Given the description of an element on the screen output the (x, y) to click on. 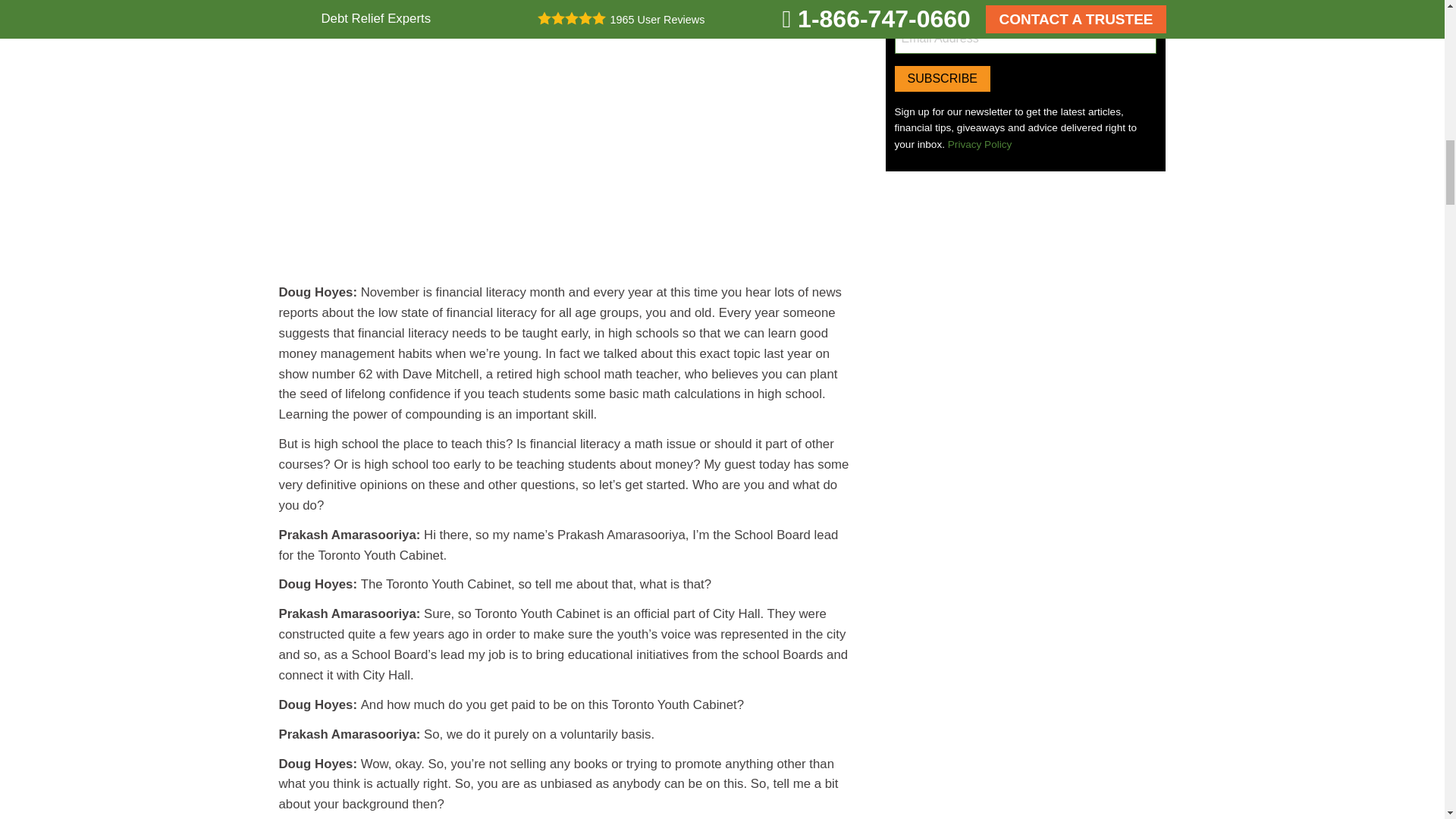
Subscribe (942, 78)
